Given the description of an element on the screen output the (x, y) to click on. 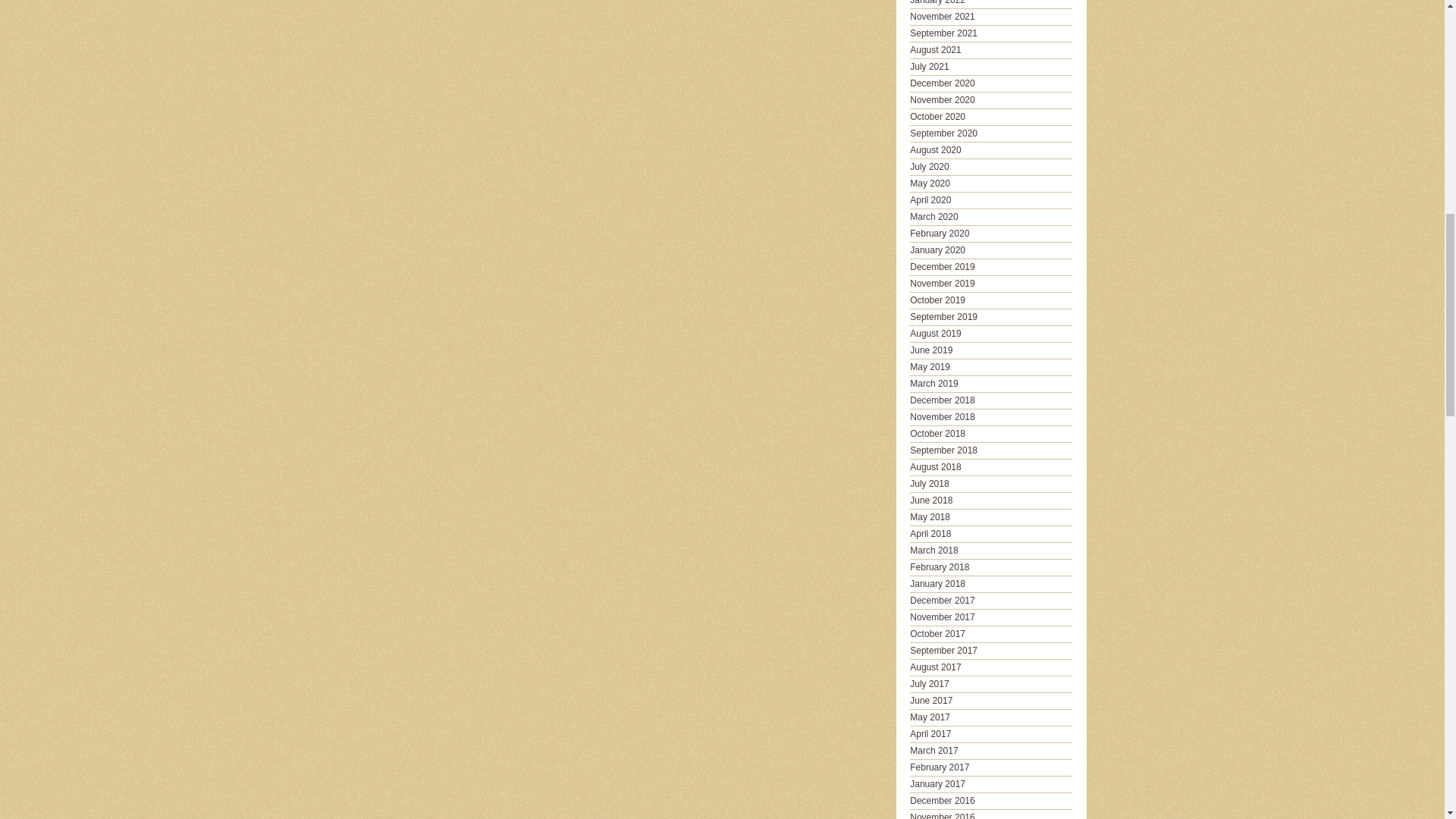
January 2020 (937, 249)
September 2021 (943, 32)
May 2020 (930, 183)
July 2021 (929, 66)
November 2020 (942, 100)
August 2020 (935, 149)
November 2021 (942, 16)
January 2022 (937, 2)
December 2020 (942, 82)
September 2020 (943, 132)
March 2020 (934, 216)
August 2021 (935, 50)
February 2020 (939, 233)
July 2020 (929, 166)
April 2020 (930, 199)
